Given the description of an element on the screen output the (x, y) to click on. 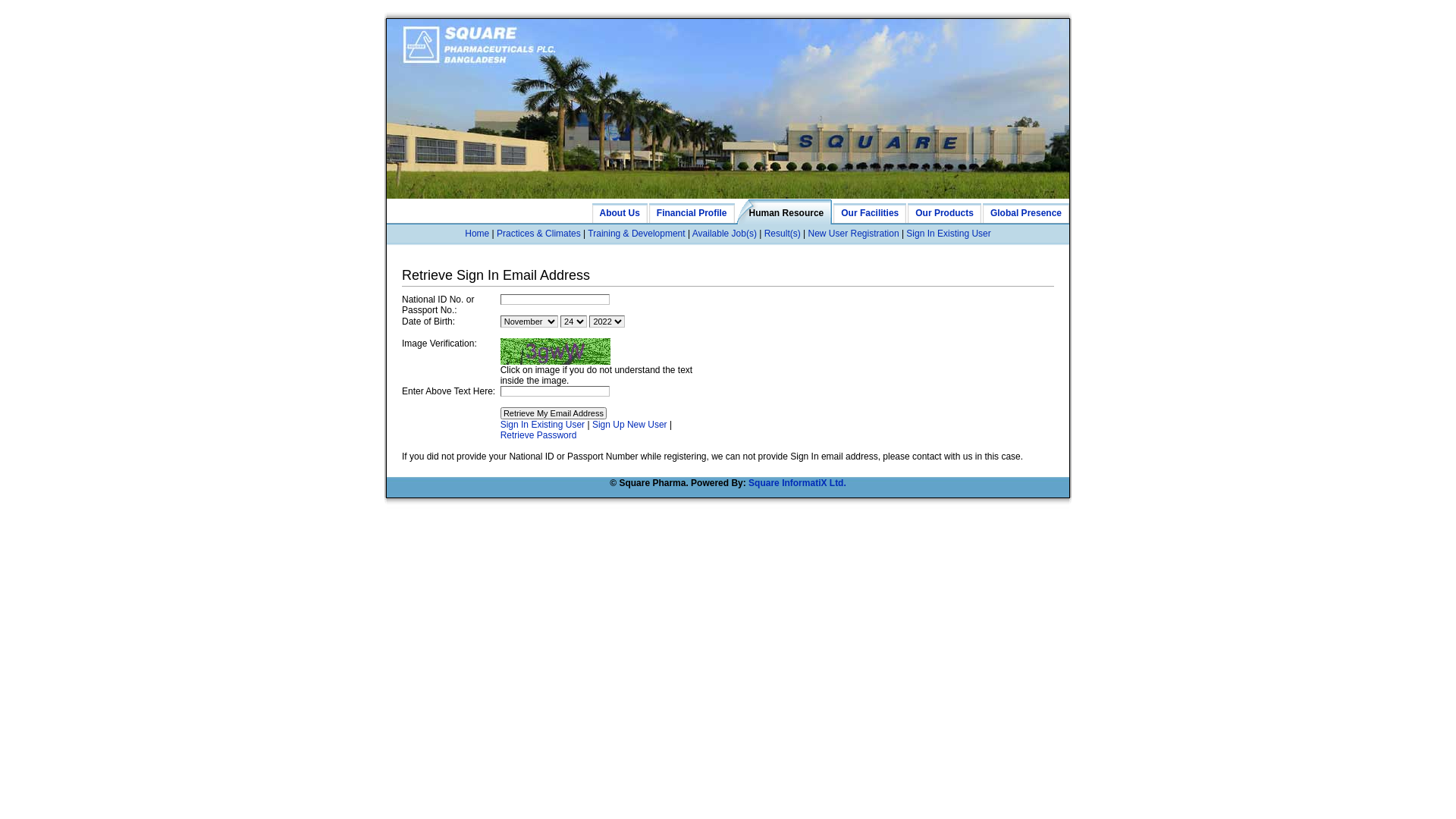
Our Facilities Element type: text (869, 210)
New User Registration Element type: text (853, 233)
Result(s) Element type: text (782, 233)
Retrieve Password Element type: text (538, 434)
About Us Element type: text (619, 210)
Financial Profile Element type: text (691, 210)
Square InformatiX Ltd. Element type: text (797, 482)
Our Products Element type: text (944, 210)
Practices & Climates Element type: text (538, 233)
Home Element type: text (476, 233)
Retrieve My Email Address Element type: text (553, 413)
Sign Up New User Element type: text (629, 424)
Training & Development Element type: text (635, 233)
Global Presence Element type: text (1025, 210)
Sign In Existing User Element type: text (542, 424)
Sign In Existing User Element type: text (948, 233)
Available Job(s) Element type: text (724, 233)
